Given the description of an element on the screen output the (x, y) to click on. 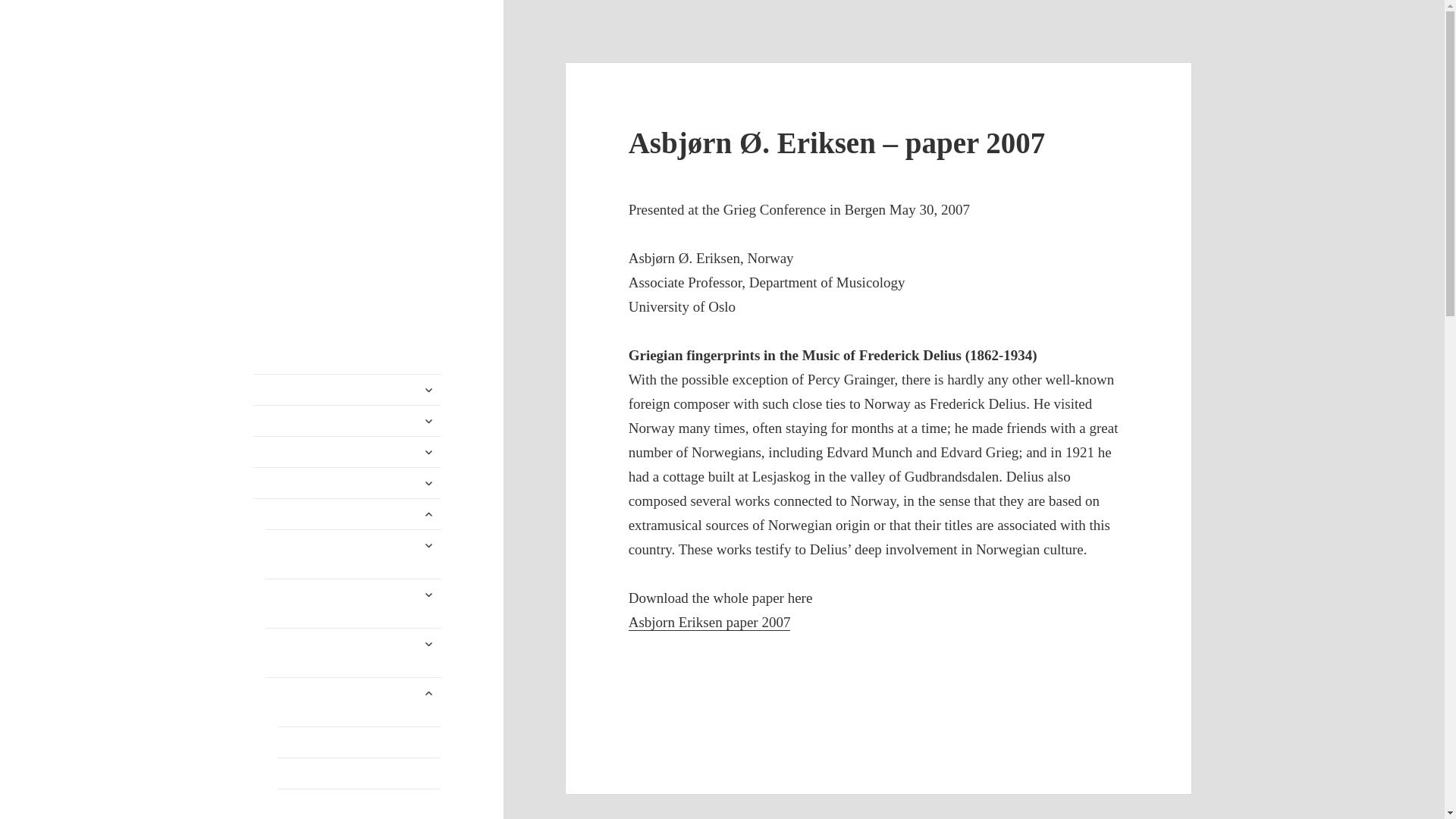
ABOUT IGS (347, 389)
expand child menu (428, 389)
GRIEG SOCIETIES (347, 420)
CONFERENCES (347, 451)
expand child menu (428, 420)
expand child menu (428, 451)
THE INTERNATIONAL EDVARD GRIEG SOCIETY (336, 110)
